Given the description of an element on the screen output the (x, y) to click on. 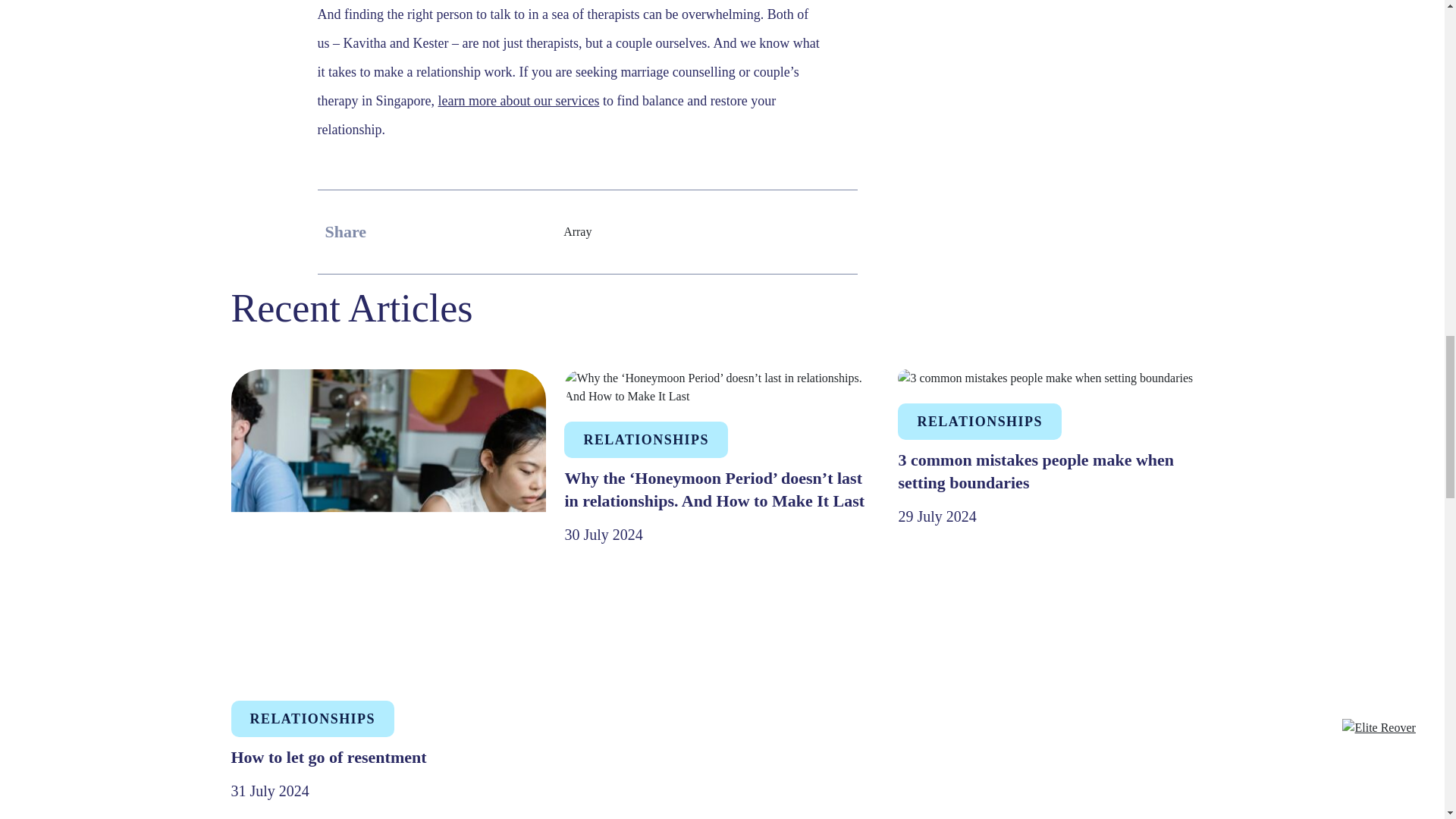
RELATIONSHIPS (311, 719)
RELATIONSHIPS (645, 439)
RELATIONSHIPS (979, 421)
learn more about our services (518, 100)
